Given the description of an element on the screen output the (x, y) to click on. 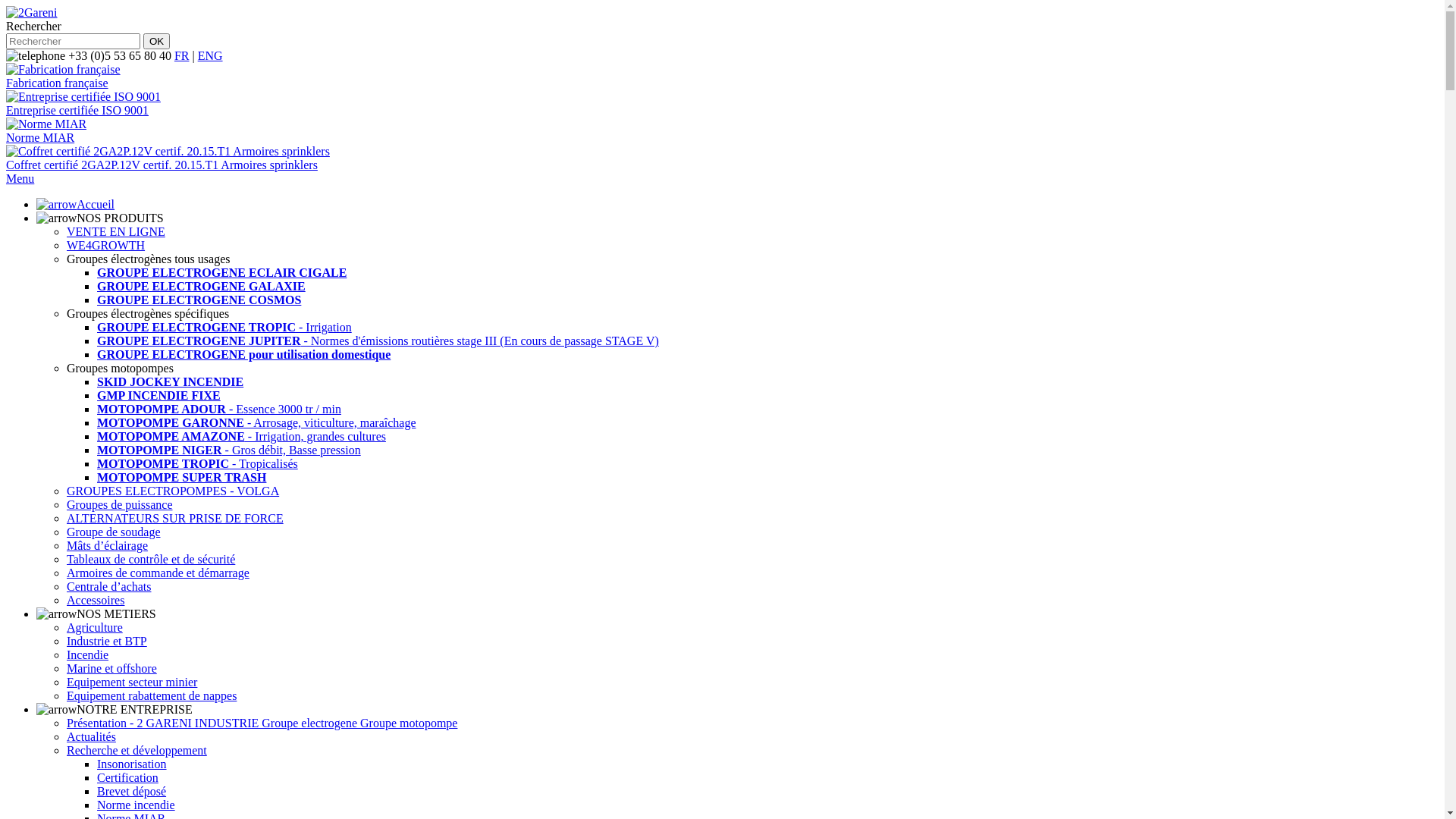
MOTOPOMPE SUPER TRASH Element type: text (181, 476)
Equipement rabattement de nappes Element type: text (151, 695)
SKID JOCKEY INCENDIE Element type: text (170, 381)
GROUPE ELECTROGENE COSMOS Element type: text (199, 299)
GROUPE ELECTROGENE pour utilisation domestique Element type: text (243, 354)
NOS PRODUITS Element type: text (99, 217)
MOTOPOMPE AMAZONE - Irrigation, grandes cultures Element type: text (241, 435)
FR Element type: text (181, 55)
Groupes de puissance Element type: text (119, 504)
Certification Element type: text (127, 777)
ALTERNATEURS SUR PRISE DE FORCE Element type: text (174, 517)
NOTRE ENTREPRISE Element type: text (114, 708)
OK Element type: text (156, 41)
Accessoires Element type: text (95, 599)
Norme incendie Element type: text (136, 804)
MOTOPOMPE ADOUR - Essence 3000 tr / min Element type: text (219, 408)
NOS METIERS Element type: text (96, 613)
Marine et offshore Element type: text (111, 668)
GROUPE ELECTROGENE GALAXIE Element type: text (201, 285)
Insonorisation Element type: text (131, 763)
Agriculture Element type: text (94, 627)
Equipement secteur minier Element type: text (131, 681)
VENTE EN LIGNE Element type: text (115, 231)
Incendie Element type: text (87, 654)
GROUPE ELECTROGENE TROPIC - Irrigation Element type: text (224, 326)
GROUPES ELECTROPOMPES - VOLGA Element type: text (172, 490)
Norme MIAR Element type: text (722, 137)
Industrie et BTP Element type: text (106, 640)
Menu Element type: text (20, 178)
WE4GROWTH Element type: text (105, 244)
Groupe de soudage Element type: text (113, 531)
GROUPE ELECTROGENE ECLAIR CIGALE Element type: text (221, 272)
Accueil Element type: text (75, 203)
ENG Element type: text (209, 55)
Groupes motopompes Element type: text (119, 367)
GMP INCENDIE FIXE Element type: text (158, 395)
